Given the description of an element on the screen output the (x, y) to click on. 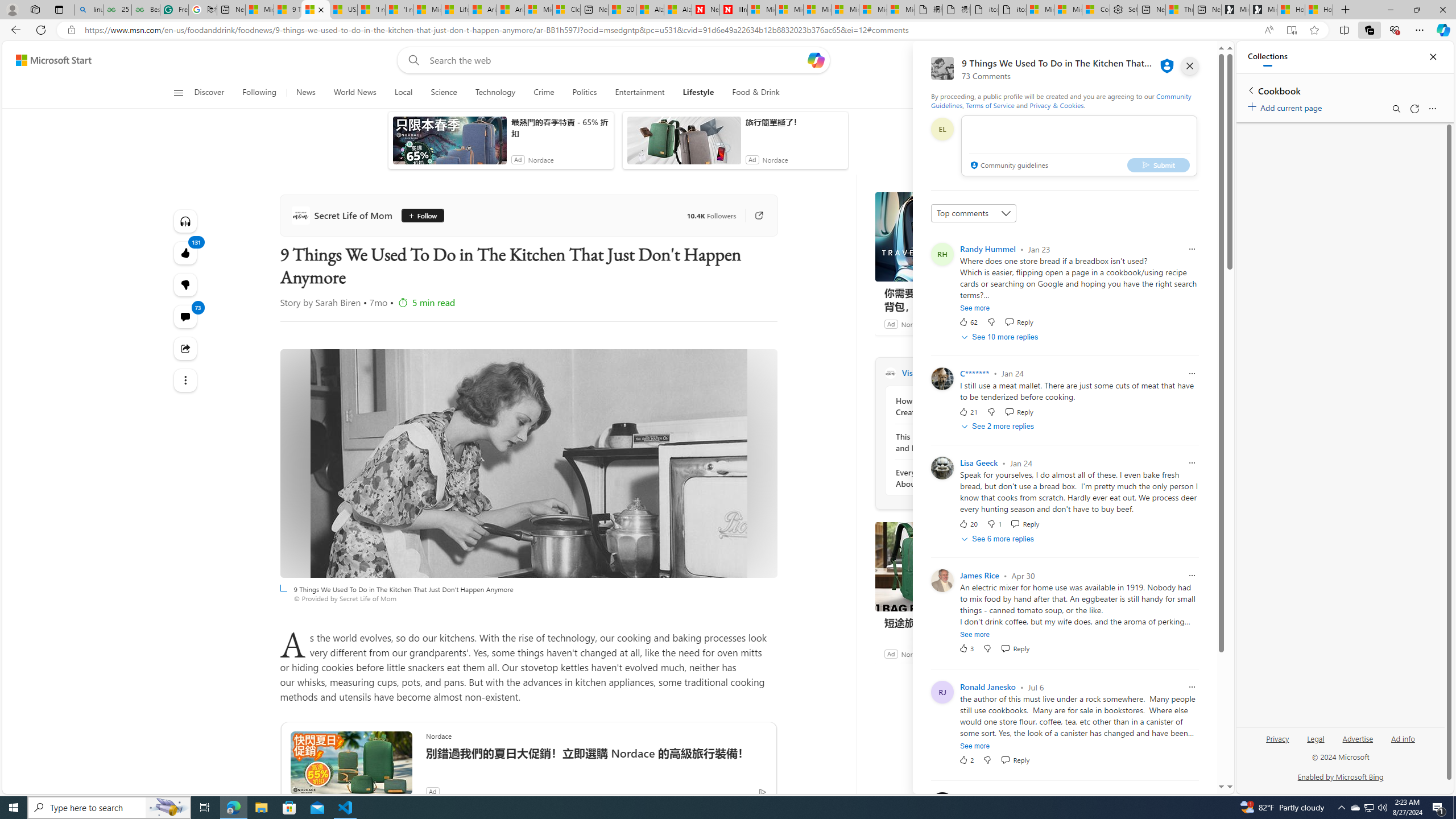
More options menu (1432, 108)
Best SSL Certificates Provider in India - GeeksforGeeks (145, 9)
comment-box (1078, 145)
2 Like (965, 759)
James Rice (978, 575)
